Given the description of an element on the screen output the (x, y) to click on. 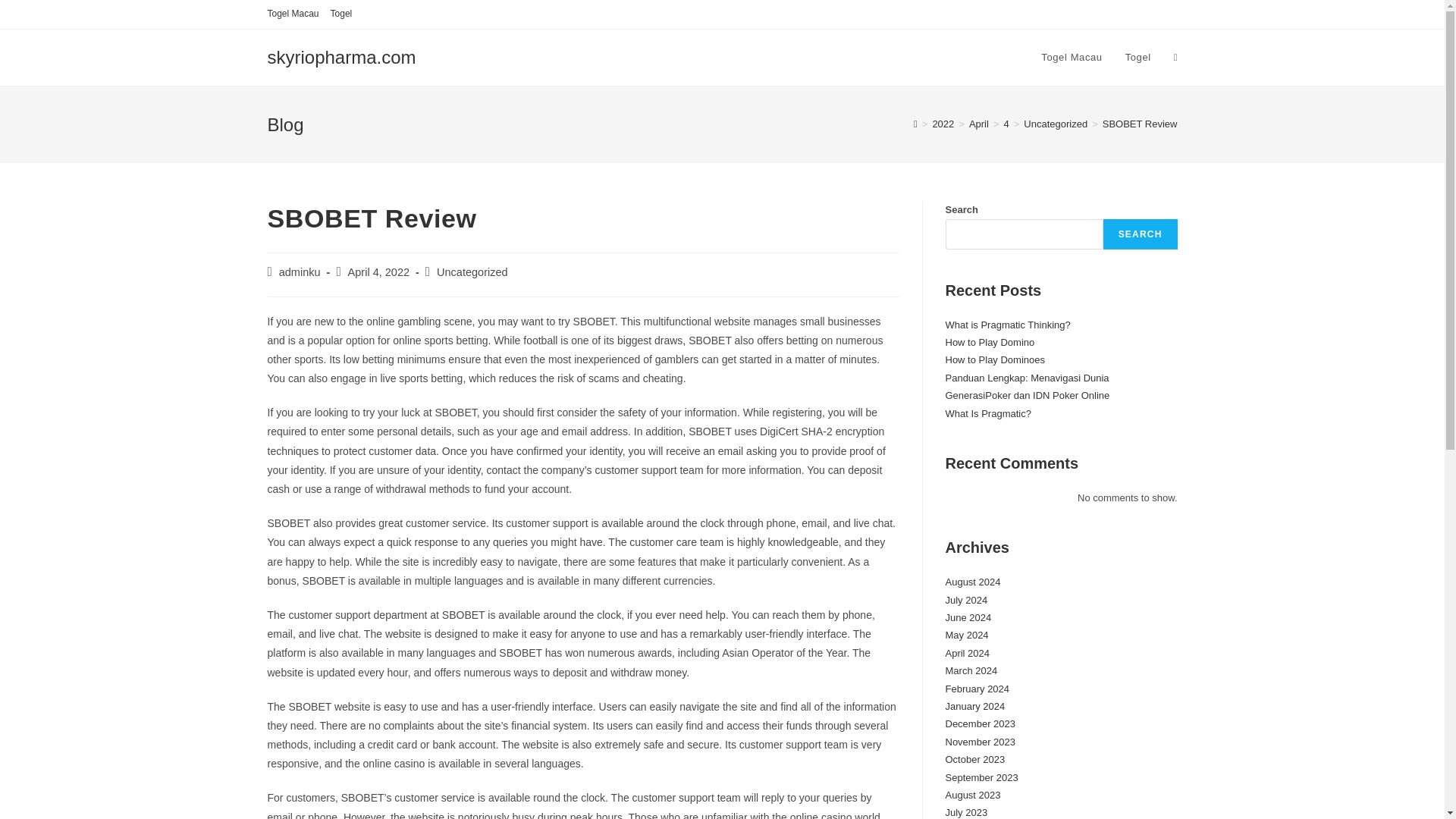
January 2024 (974, 706)
Uncategorized (472, 272)
Uncategorized (1055, 123)
April (978, 123)
November 2023 (979, 741)
March 2024 (970, 670)
Togel Macau (1071, 57)
Togel Macau (292, 13)
2022 (942, 123)
September 2023 (980, 777)
